Given the description of an element on the screen output the (x, y) to click on. 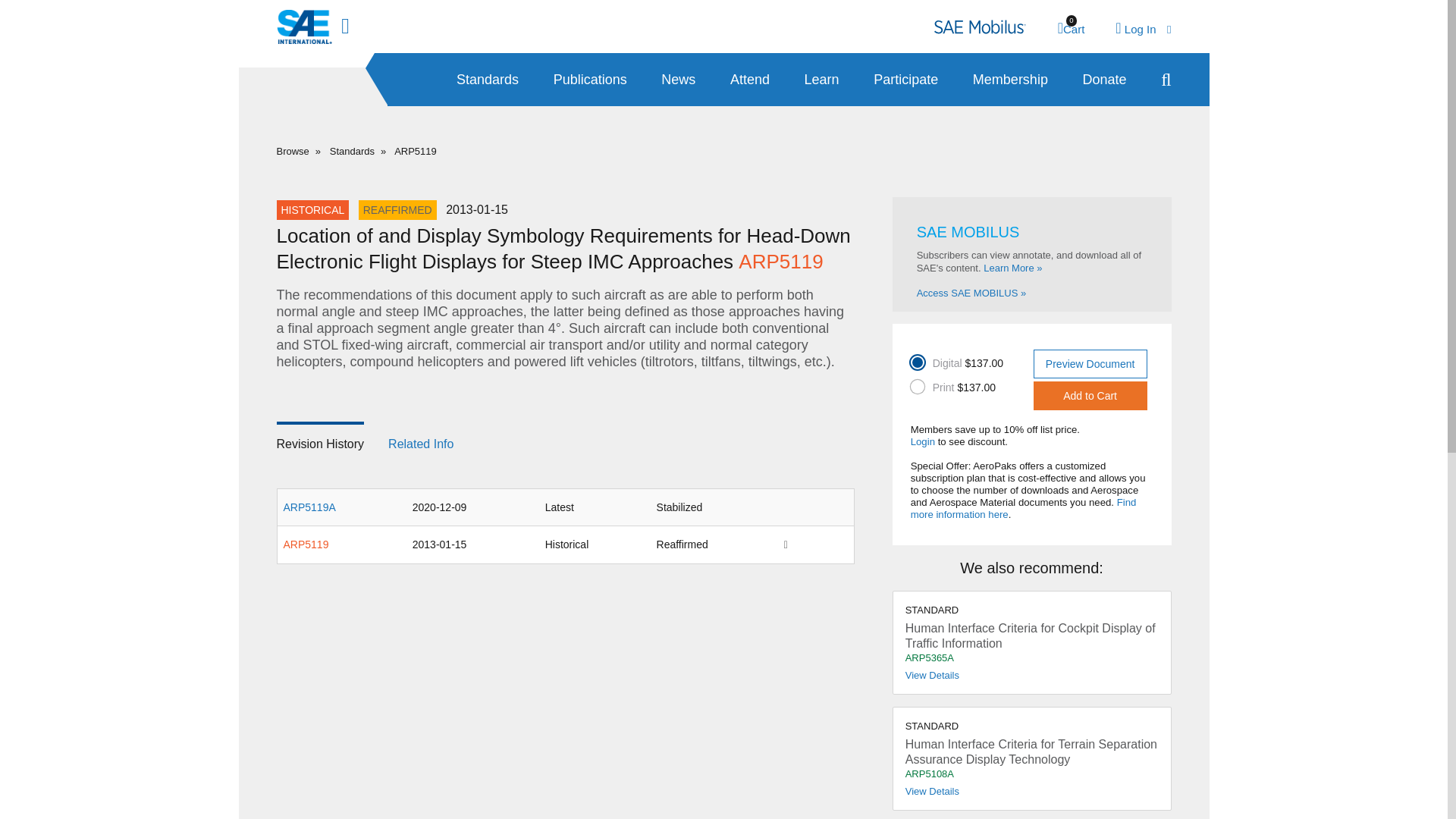
 Log In (1142, 29)
Standards (564, 441)
Publications (487, 79)
